Given the description of an element on the screen output the (x, y) to click on. 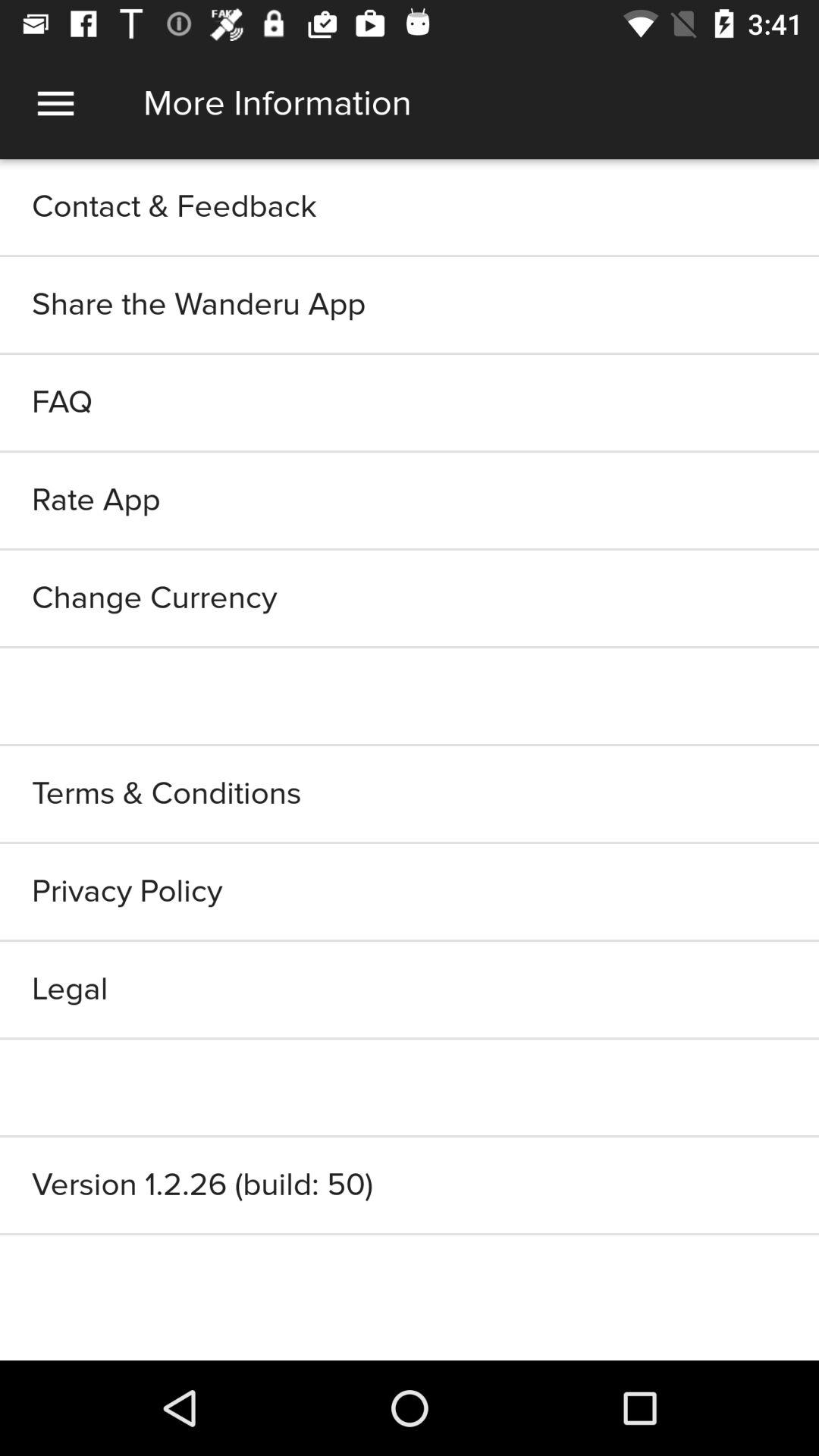
menu icon (55, 103)
